Given the description of an element on the screen output the (x, y) to click on. 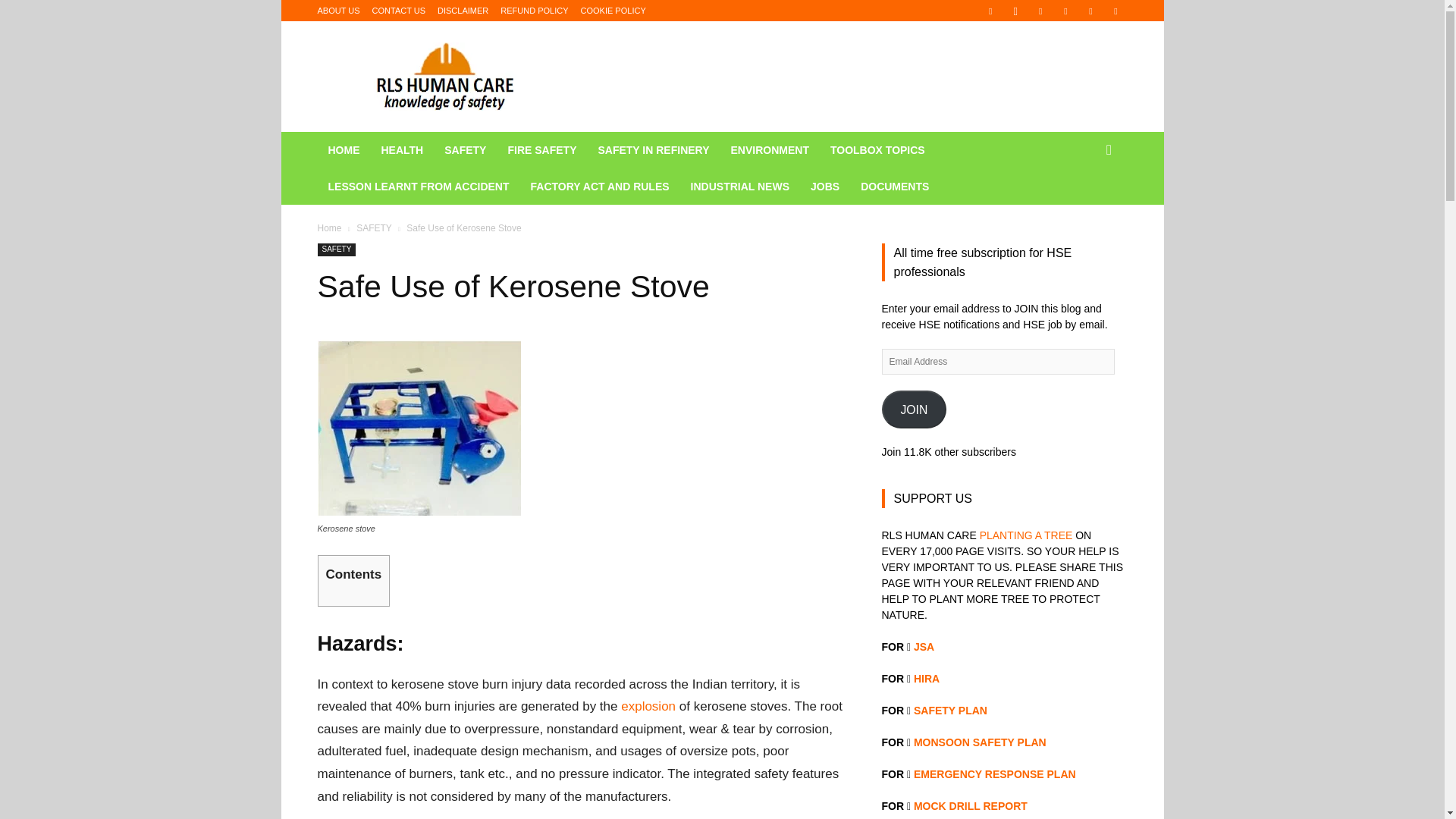
Linkedin (1040, 10)
Youtube (1114, 10)
Facebook (989, 10)
REFUND POLICY (533, 10)
Instagram (1015, 10)
CONTACT US (399, 10)
ABOUT US (338, 10)
COOKIE POLICY (613, 10)
Telegram (1065, 10)
DISCLAIMER (462, 10)
